Given the description of an element on the screen output the (x, y) to click on. 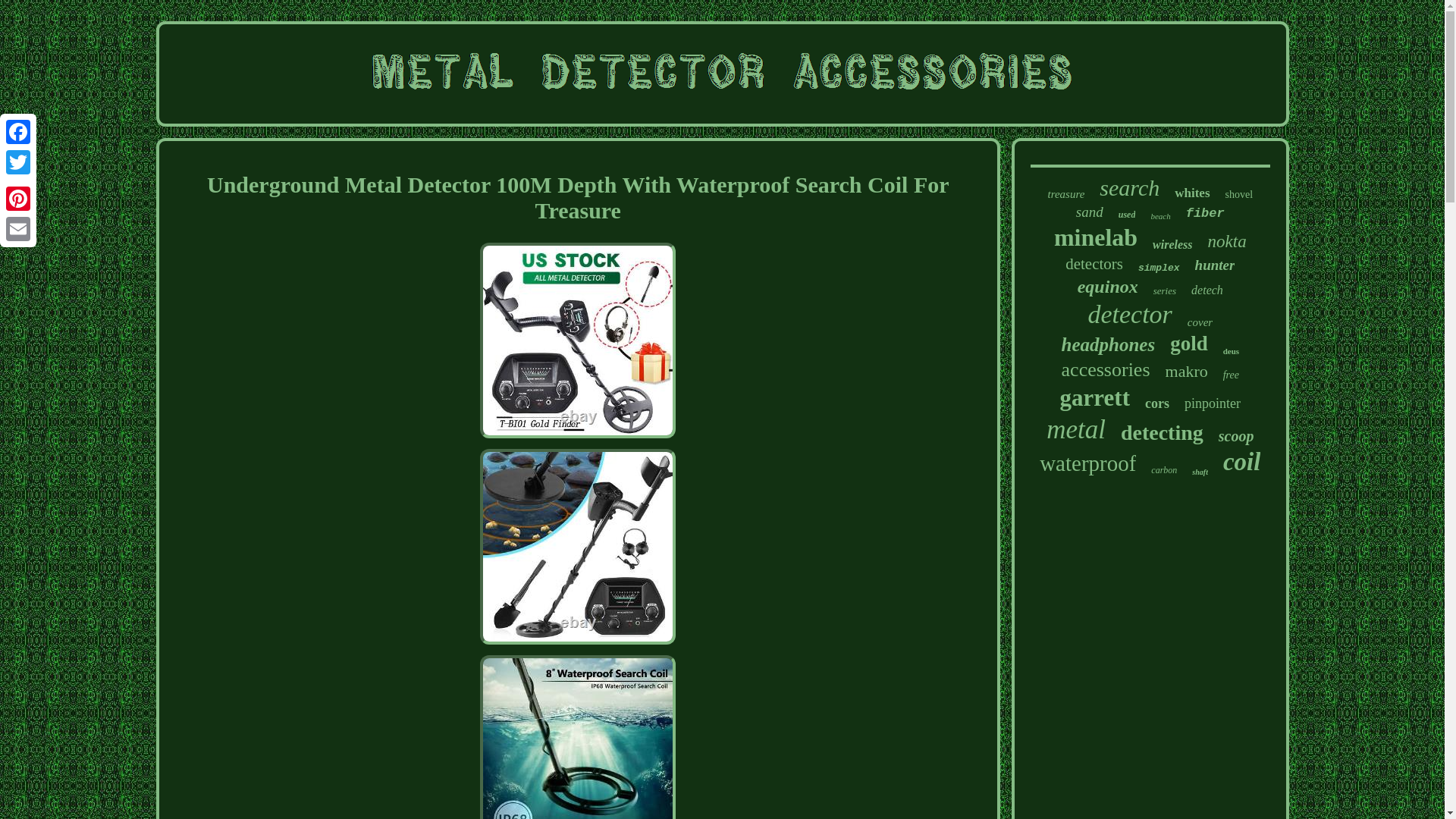
cors (1156, 403)
search (1128, 187)
garrett (1094, 397)
equinox (1107, 286)
cover (1200, 322)
Twitter (17, 162)
makro (1187, 371)
Facebook (17, 132)
simplex (1158, 267)
fiber (1205, 213)
